Given the description of an element on the screen output the (x, y) to click on. 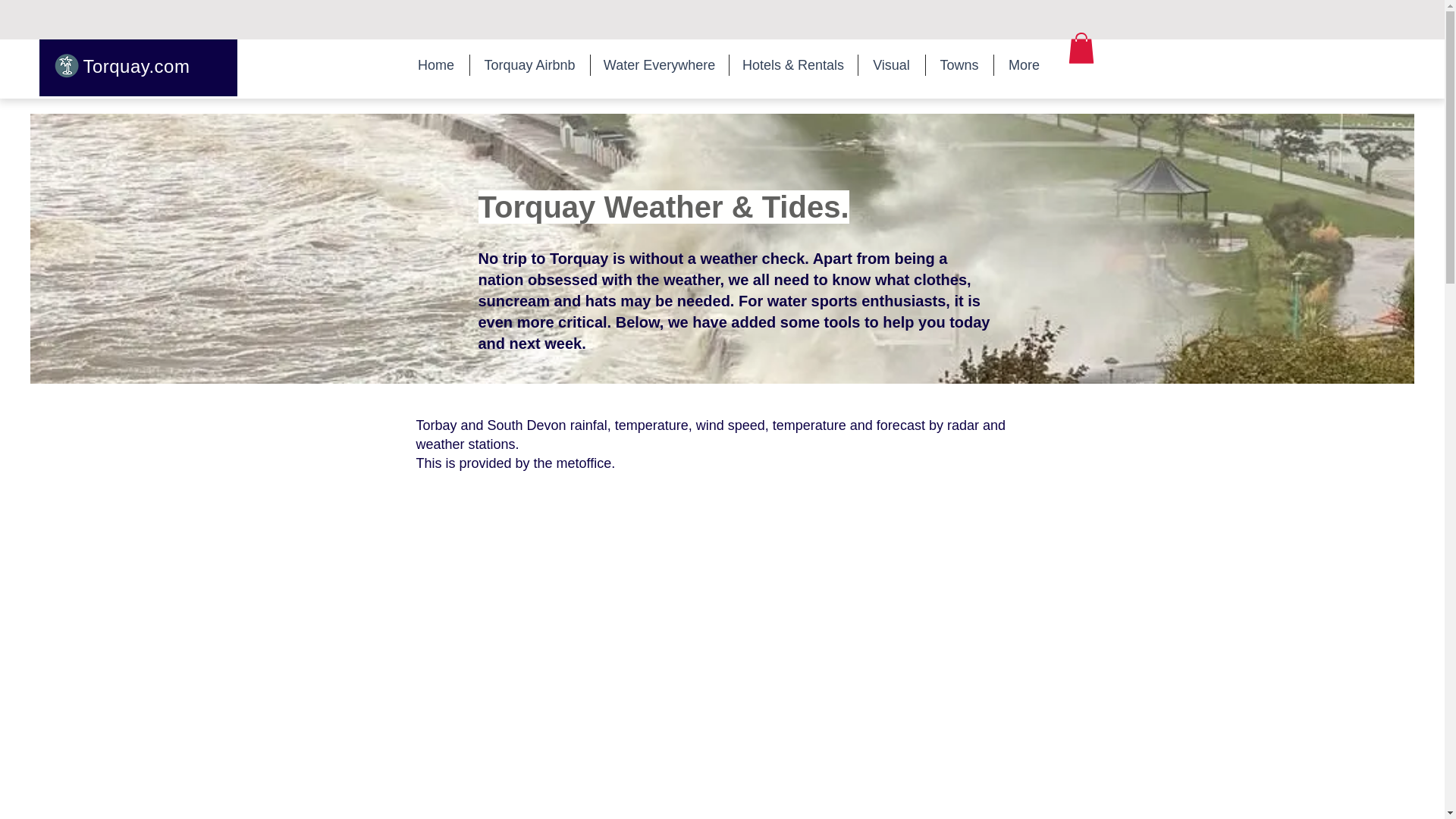
Torquay Airbnb (529, 65)
Torquay.com (136, 66)
Palm Tree Icon - Teal (65, 65)
Home (435, 65)
